Given the description of an element on the screen output the (x, y) to click on. 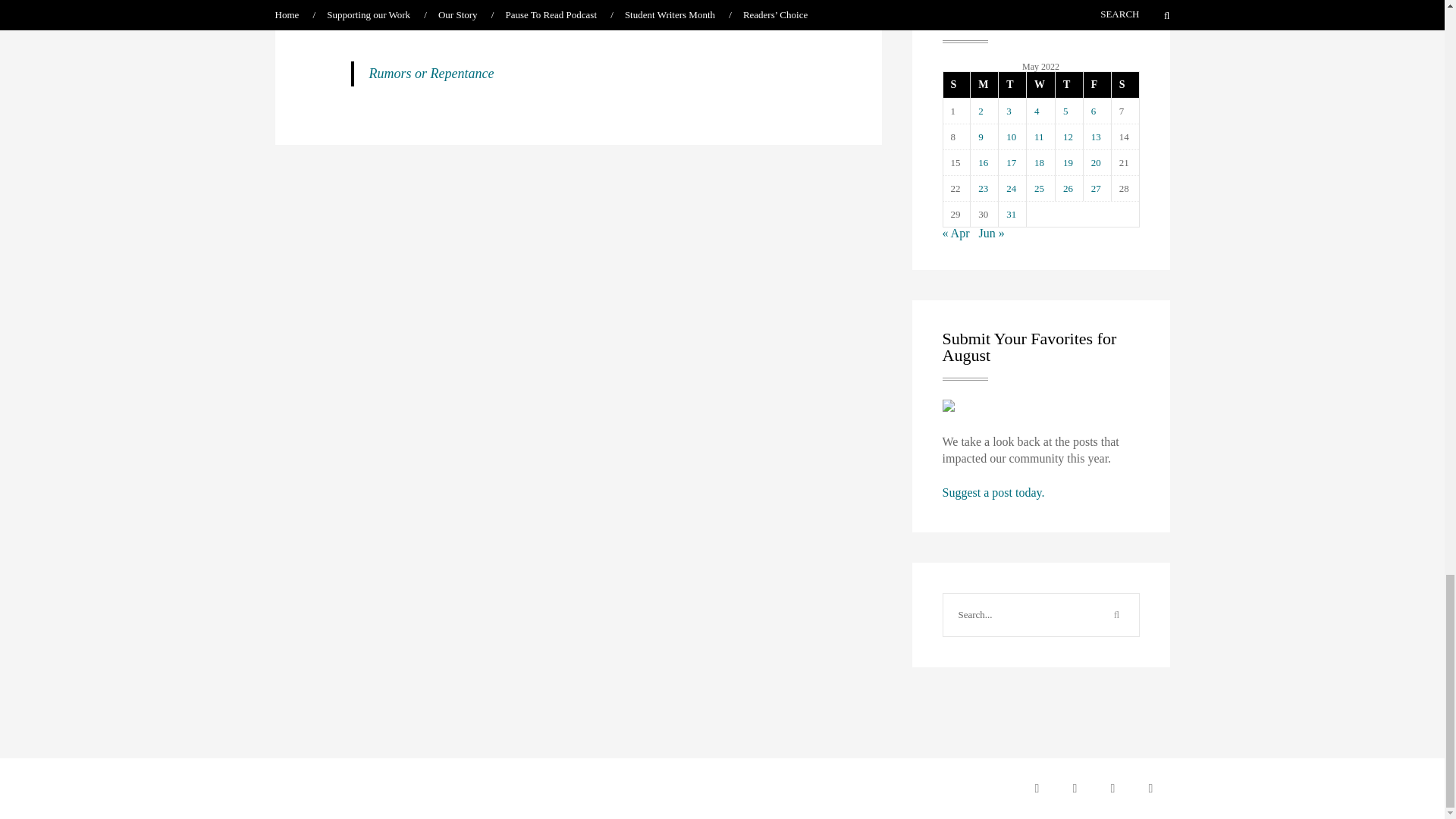
Thursday (1068, 84)
Friday (1096, 84)
Saturday (1124, 84)
Wednesday (1040, 84)
Tuesday (1011, 84)
Sunday (957, 84)
Rumors or Repentance (430, 73)
Search... (1018, 614)
Monday (983, 84)
